Given the description of an element on the screen output the (x, y) to click on. 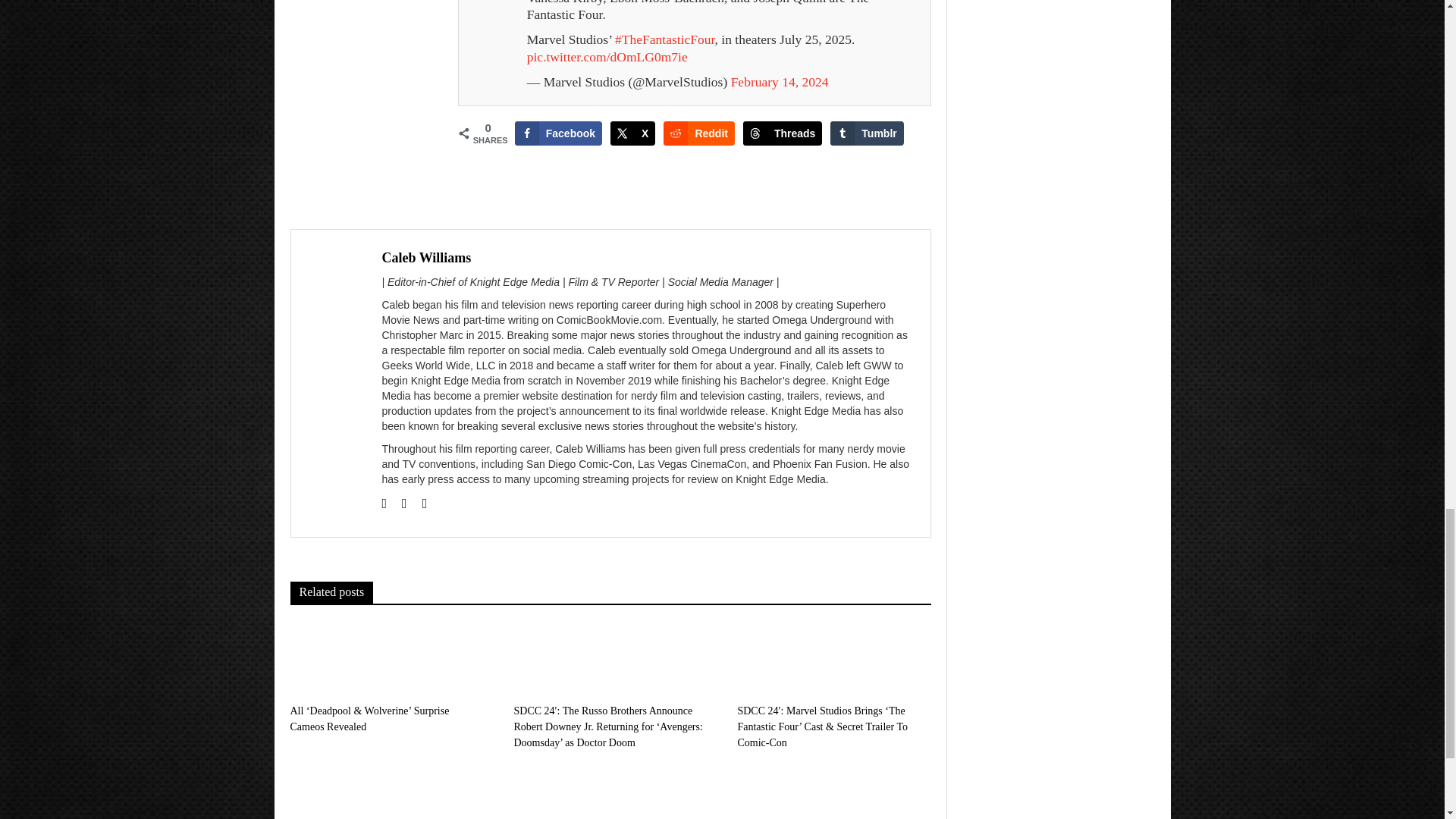
Share on Tumblr (865, 133)
Share on Facebook (558, 133)
Share on Threads (782, 133)
Share on Reddit (699, 133)
Share on X (632, 133)
Posts by Caleb Williams (426, 257)
